Given the description of an element on the screen output the (x, y) to click on. 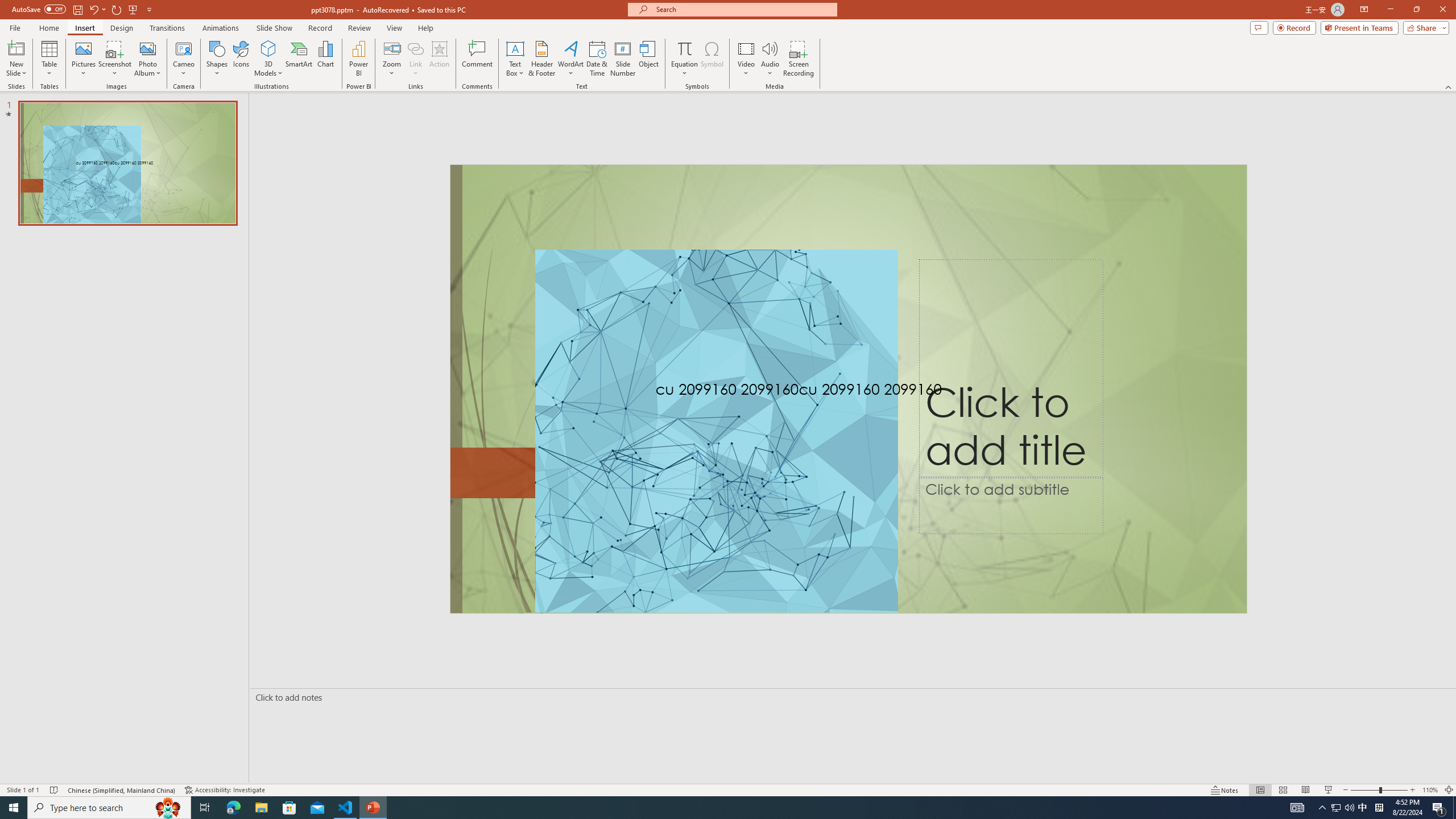
Icons (240, 58)
